Given the description of an element on the screen output the (x, y) to click on. 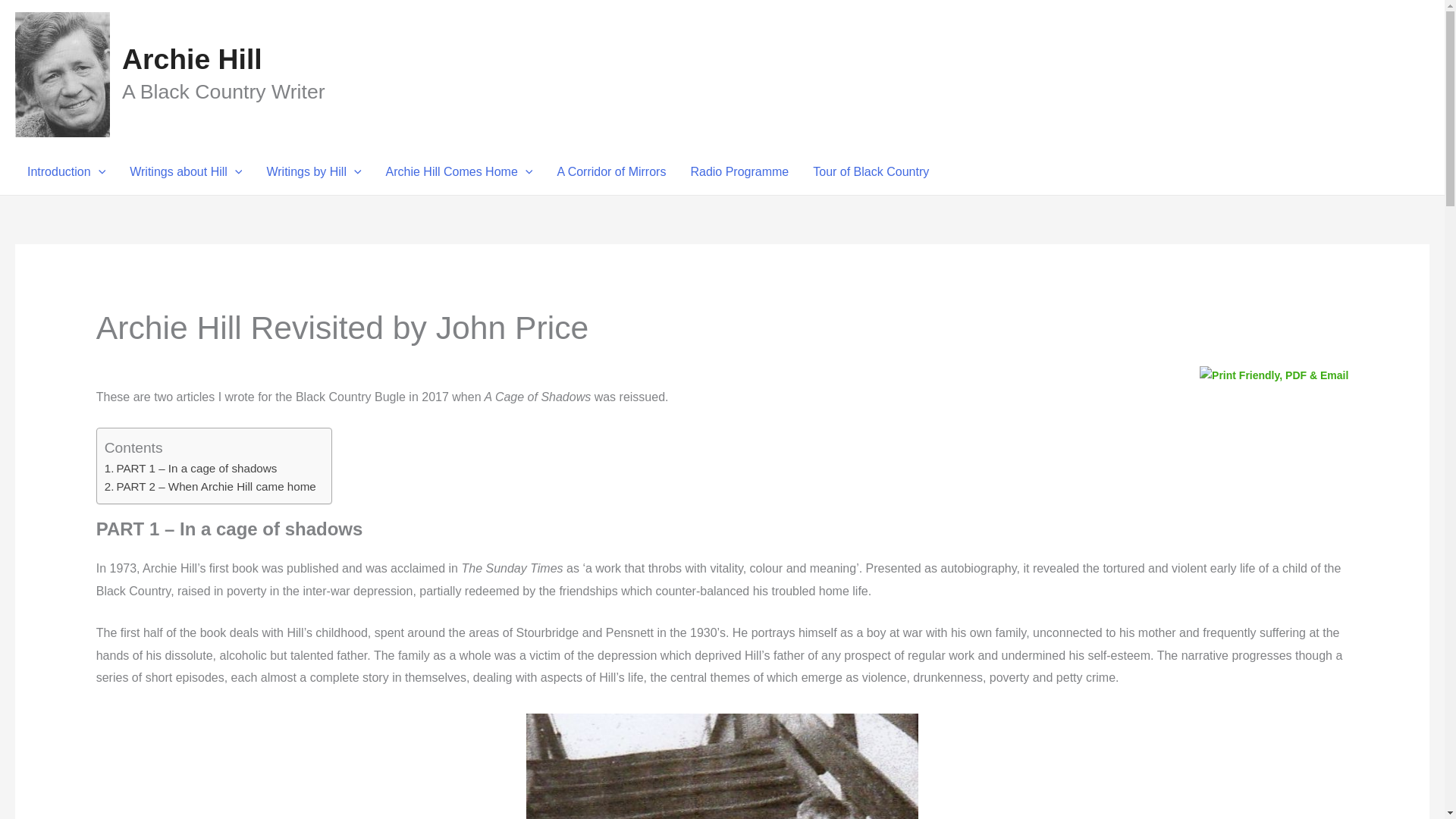
Introduction (65, 171)
Writings by Hill (312, 171)
A Corridor of Mirrors (611, 171)
Archie Hill Comes Home (459, 171)
Radio Programme (739, 171)
Writings about Hill (185, 171)
Archie Hill (192, 59)
Tour of Black Country (870, 171)
